Given the description of an element on the screen output the (x, y) to click on. 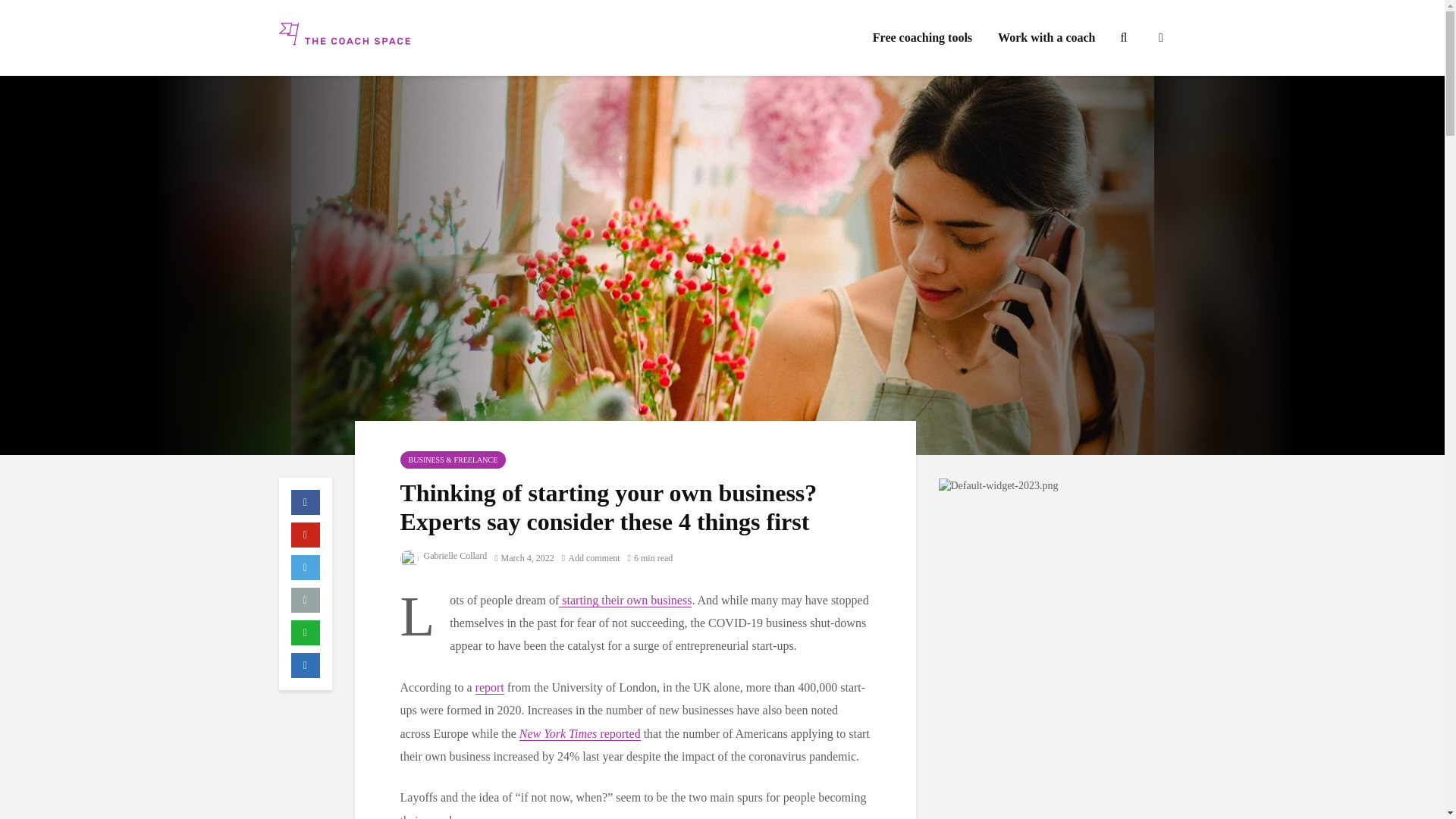
report (489, 687)
Free coaching tools (922, 37)
Add comment (591, 557)
Work with a coach (1046, 37)
Gabrielle Collard (443, 555)
New York Times reported (579, 734)
starting their own business (625, 600)
